Given the description of an element on the screen output the (x, y) to click on. 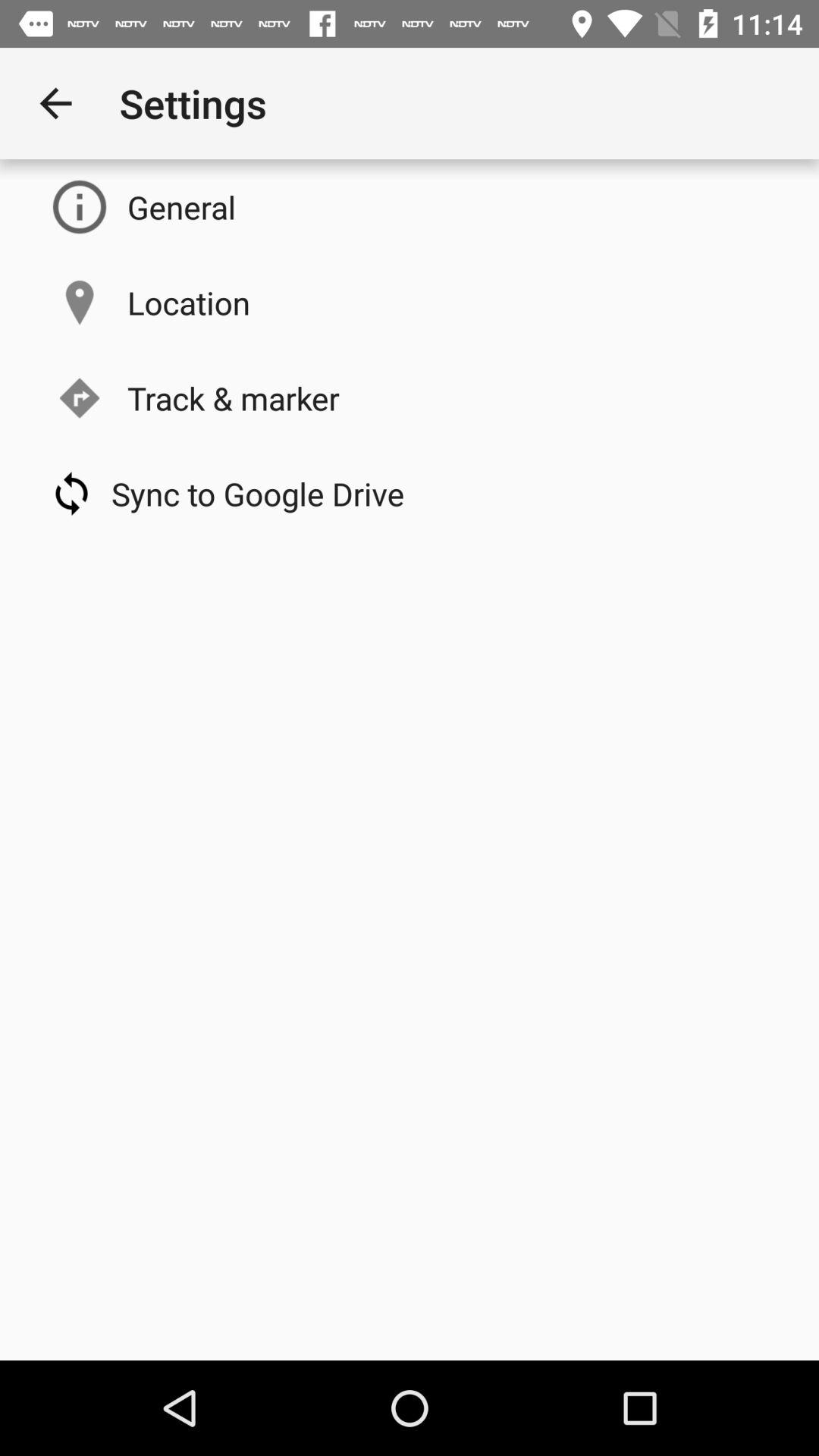
scroll until the sync to google icon (257, 493)
